Given the description of an element on the screen output the (x, y) to click on. 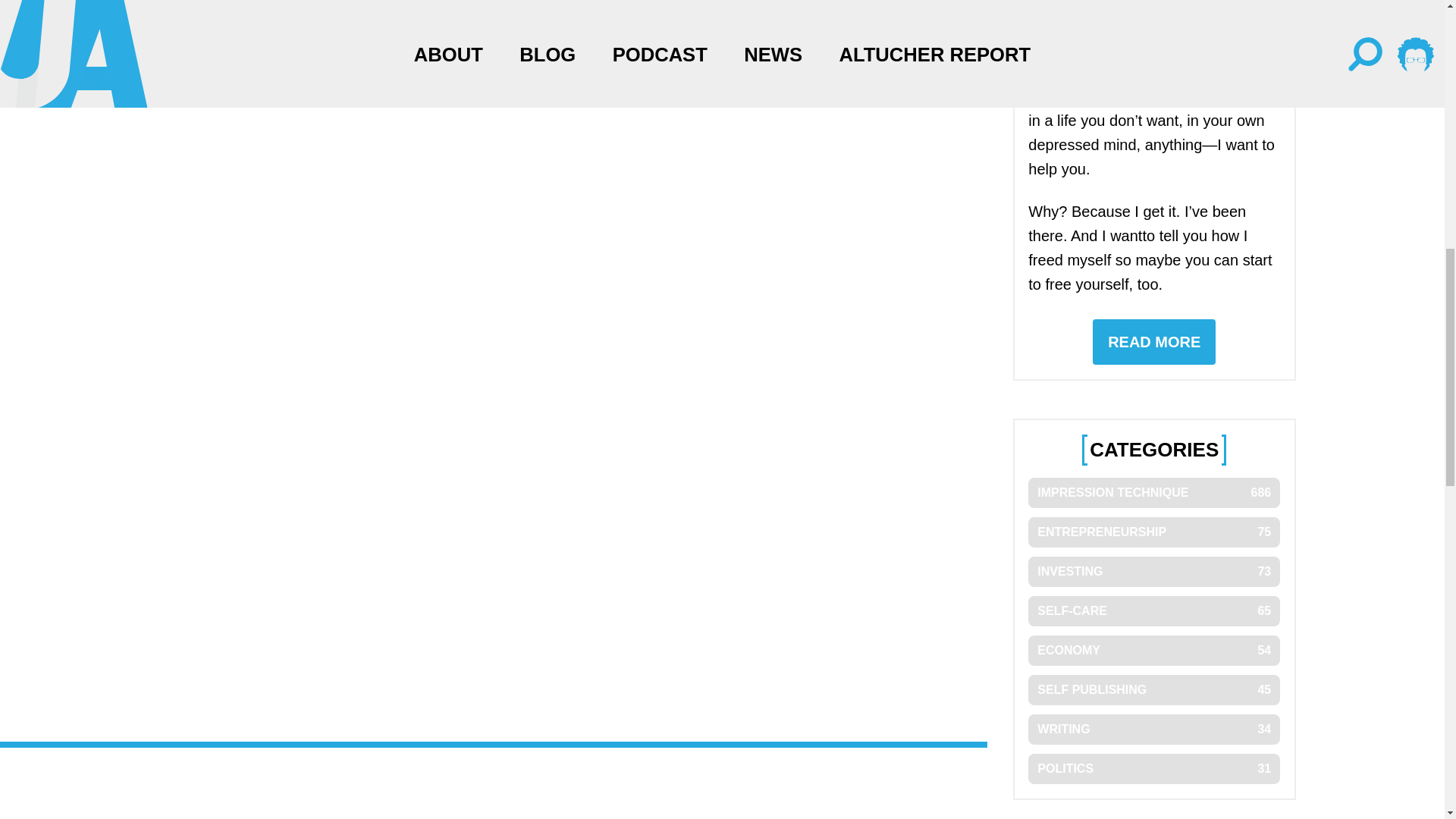
Economy (1153, 650)
Investing (1153, 571)
Self-care (1153, 611)
READ MORE (1154, 341)
Read More (1154, 341)
Politics (1153, 768)
Self Publishing (1153, 729)
Writing (1153, 689)
Impression Technique (1153, 689)
